Given the description of an element on the screen output the (x, y) to click on. 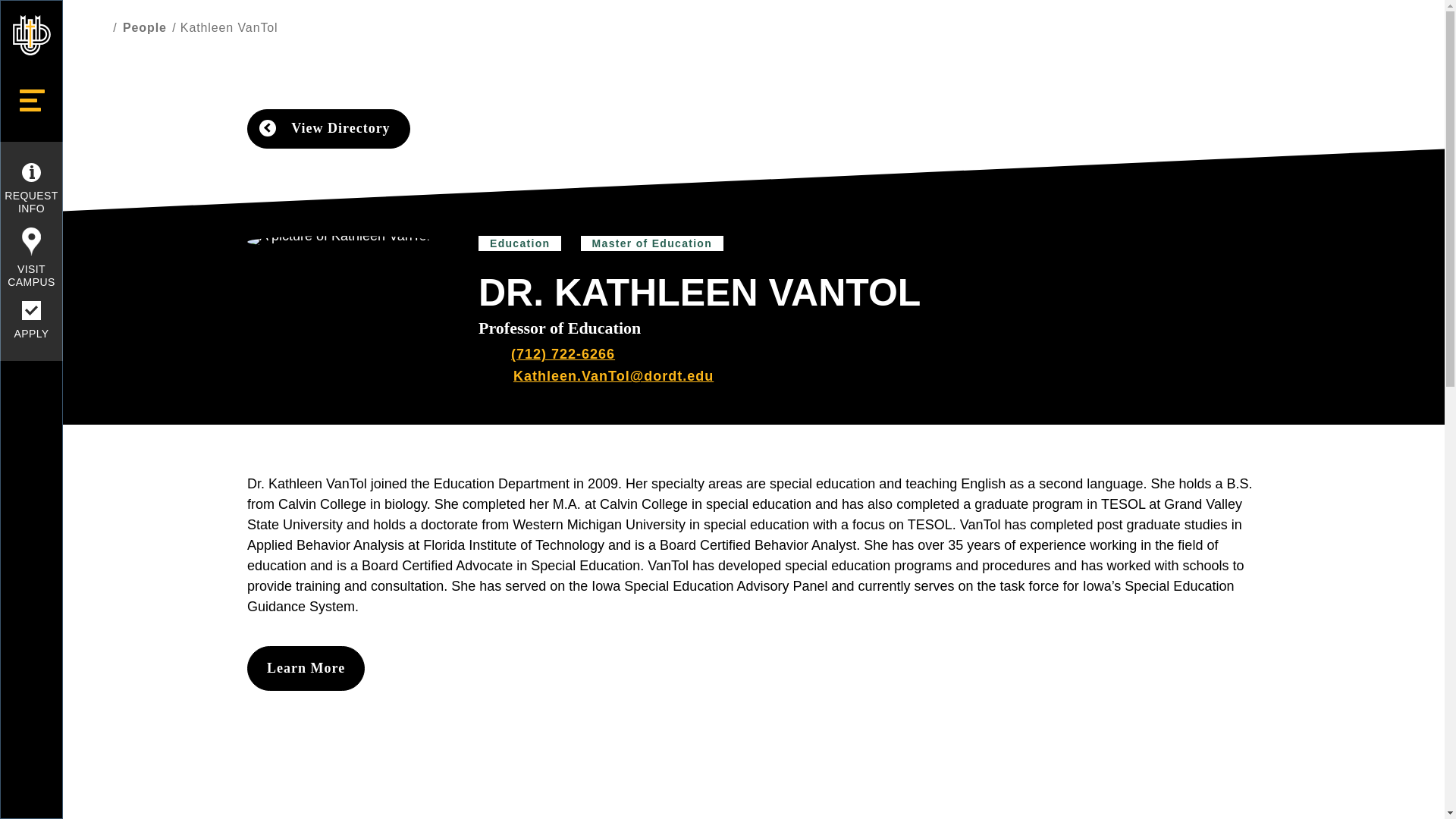
Info (30, 171)
Apply (30, 310)
